Given the description of an element on the screen output the (x, y) to click on. 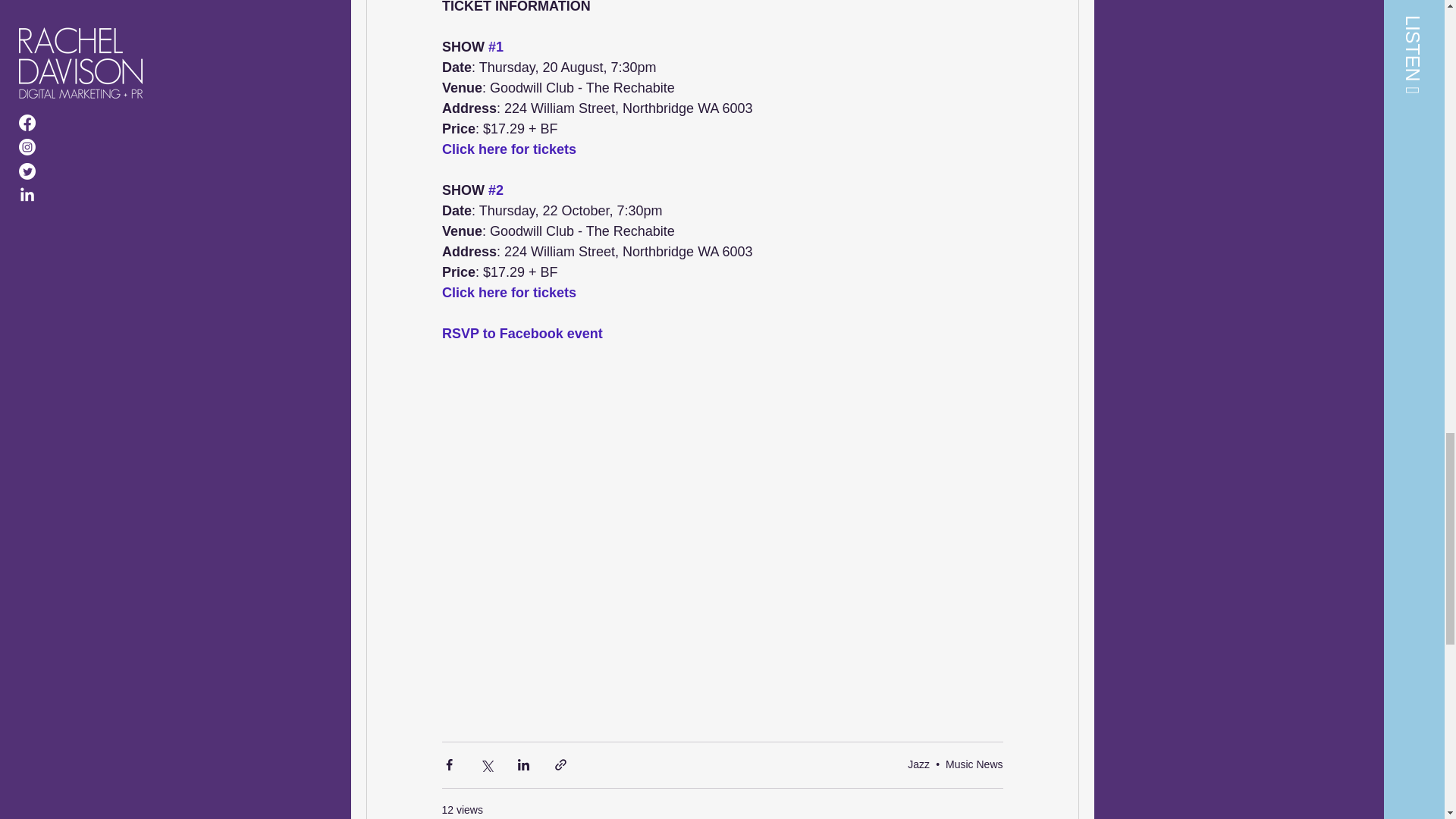
Click here for tickets (508, 292)
Jazz (918, 764)
RSVP to Facebook event (521, 333)
Music News (973, 764)
Click here for tickets (508, 149)
